Given the description of an element on the screen output the (x, y) to click on. 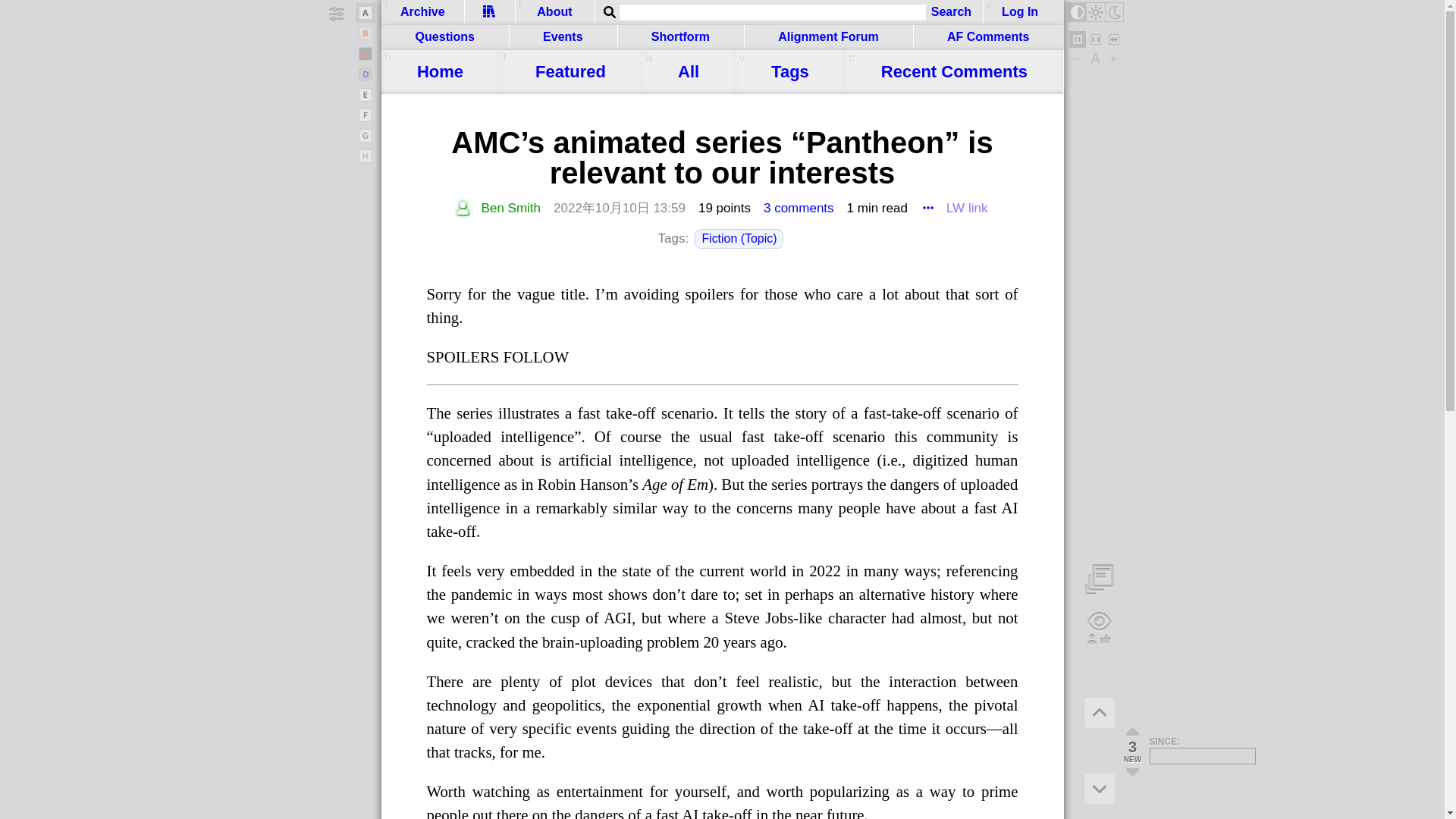
Shortform (680, 37)
Questions (444, 37)
Featured (570, 71)
Tags (790, 71)
Sequences (489, 12)
About (554, 12)
Latest comments (953, 71)
3 comments (798, 209)
Alignment Forum (828, 37)
Recent Comments (953, 71)
